Given the description of an element on the screen output the (x, y) to click on. 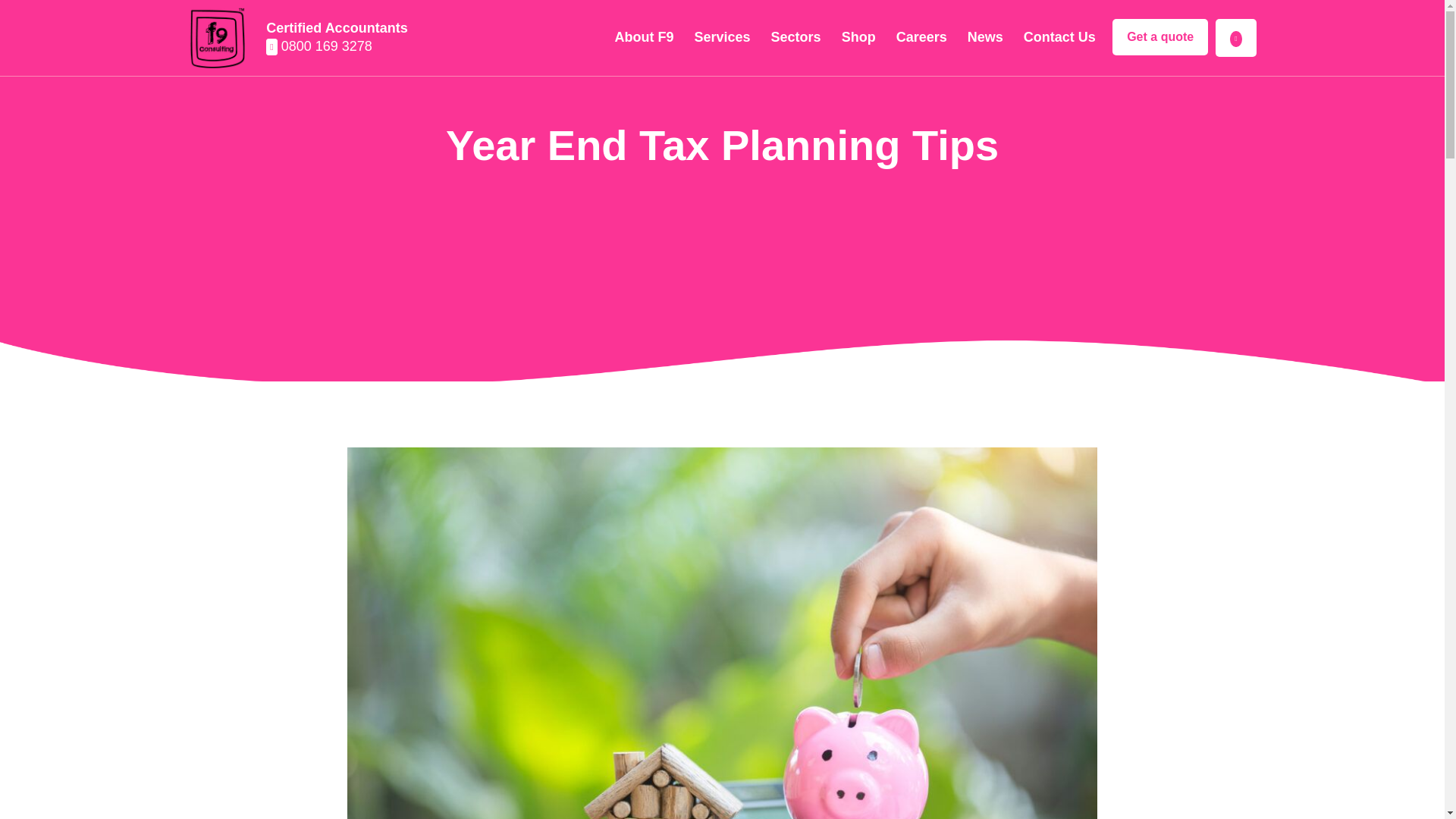
Shop (858, 37)
Careers (921, 37)
Sectors (796, 37)
Services (721, 37)
News (985, 37)
About F9 (643, 37)
0800 169 3278 (336, 46)
Get a quote (1160, 36)
Contact Us (1059, 37)
